Given the description of an element on the screen output the (x, y) to click on. 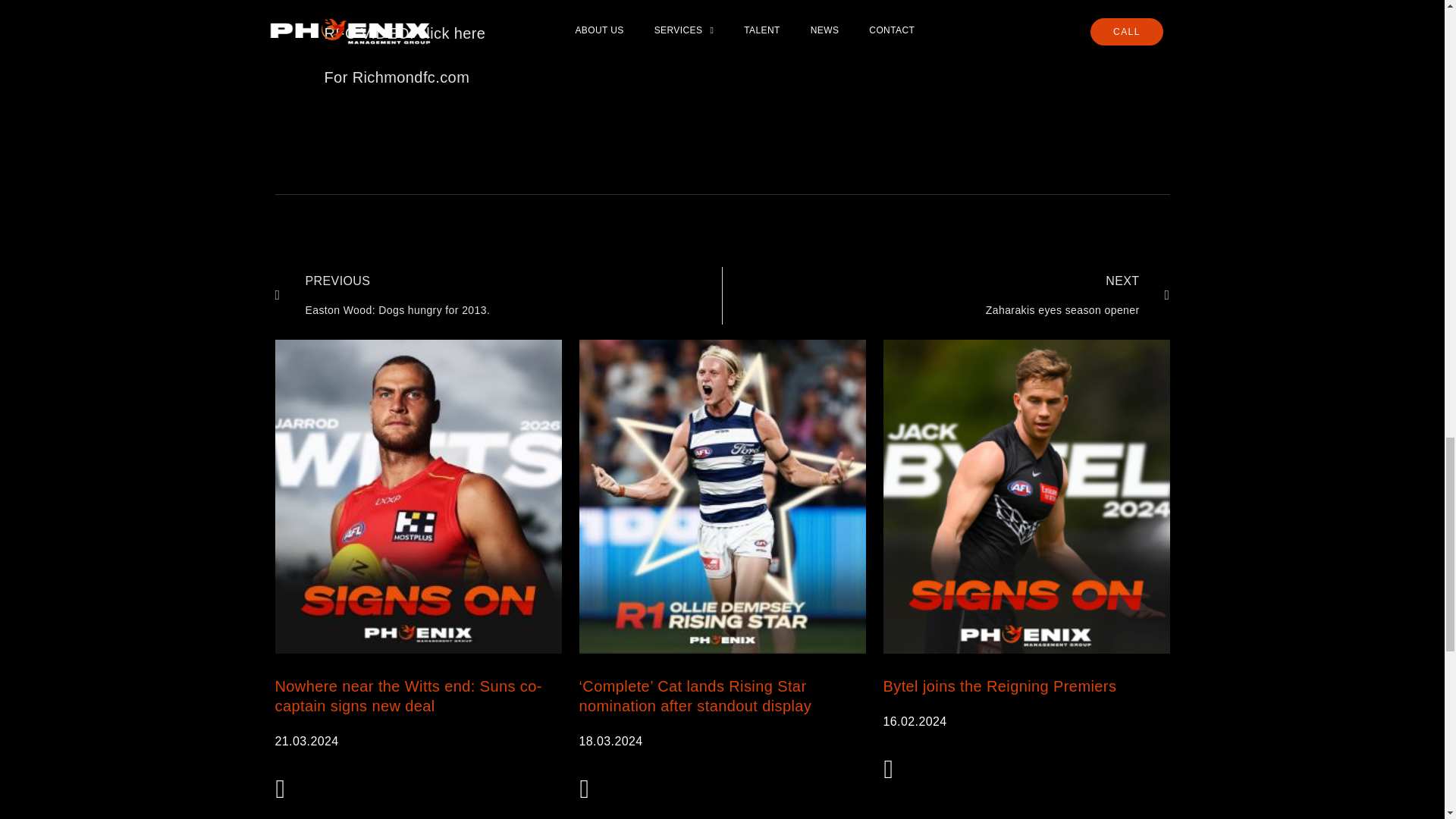
Matty Arnot on the rise (405, 33)
